Given the description of an element on the screen output the (x, y) to click on. 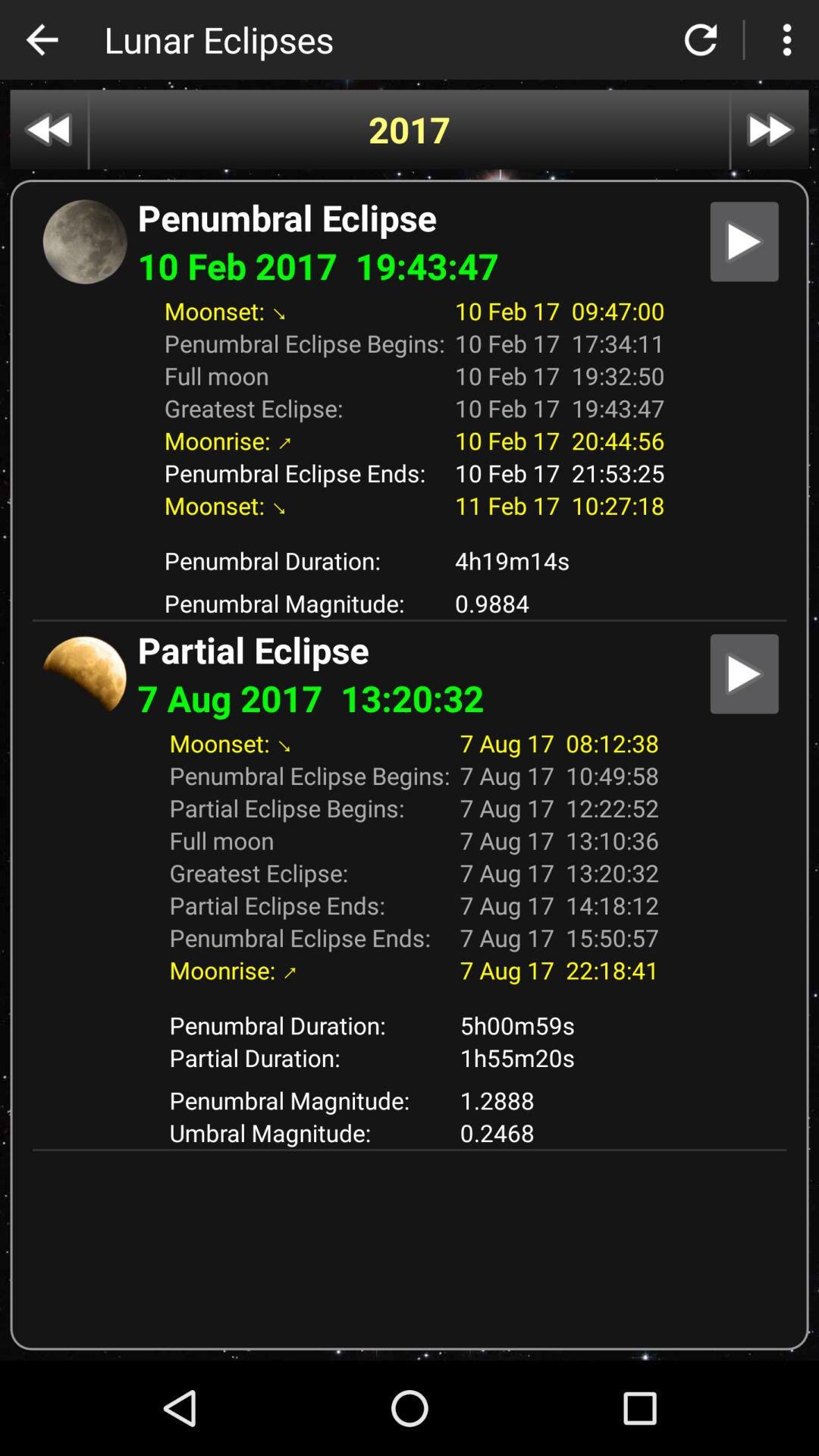
turn on the app below partial duration: icon (559, 1100)
